Given the description of an element on the screen output the (x, y) to click on. 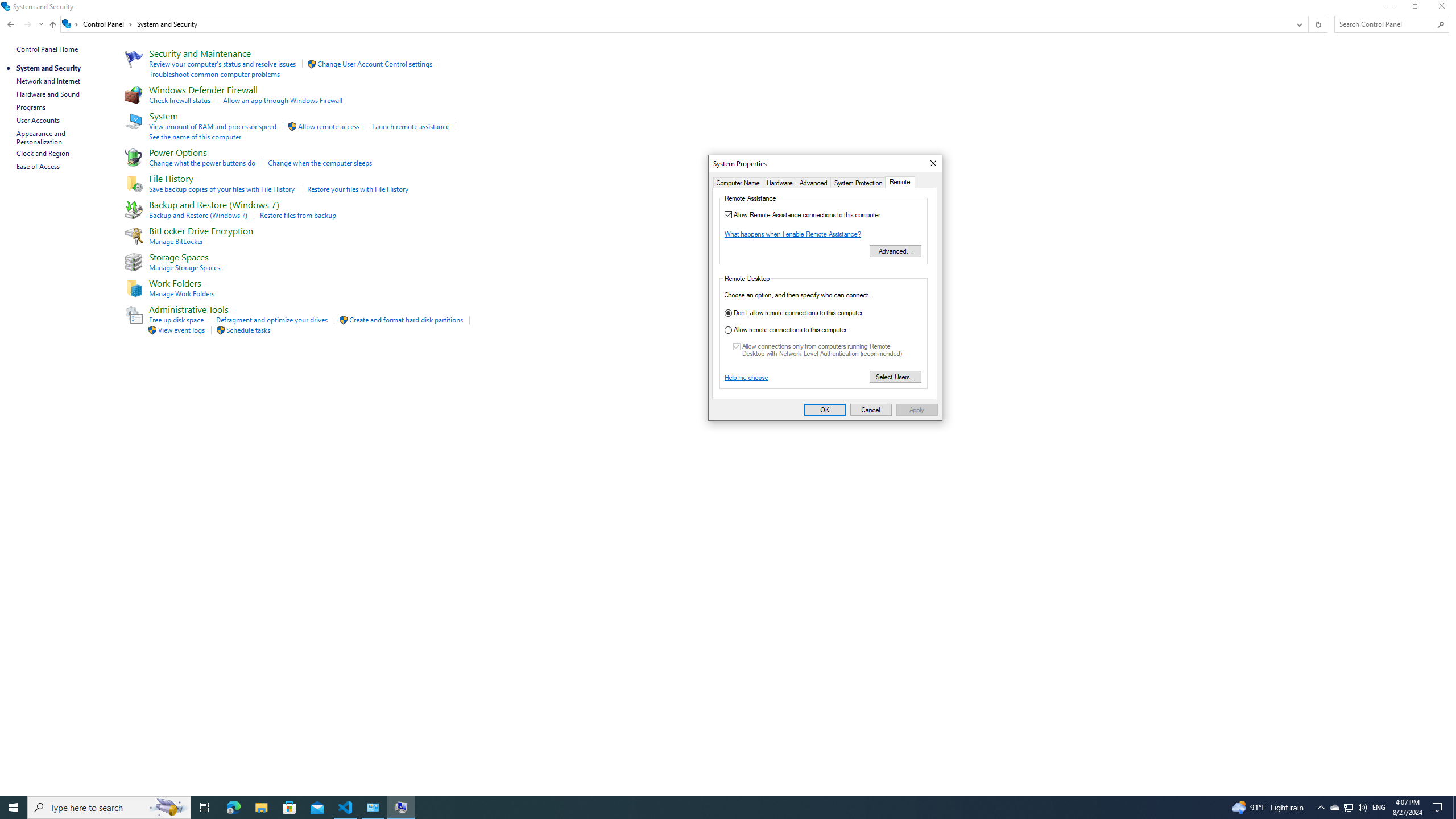
Hardware (779, 182)
Apply (917, 409)
OK (824, 409)
Advanced (813, 182)
What happens when I enable Remote Assistance? (792, 233)
